Given the description of an element on the screen output the (x, y) to click on. 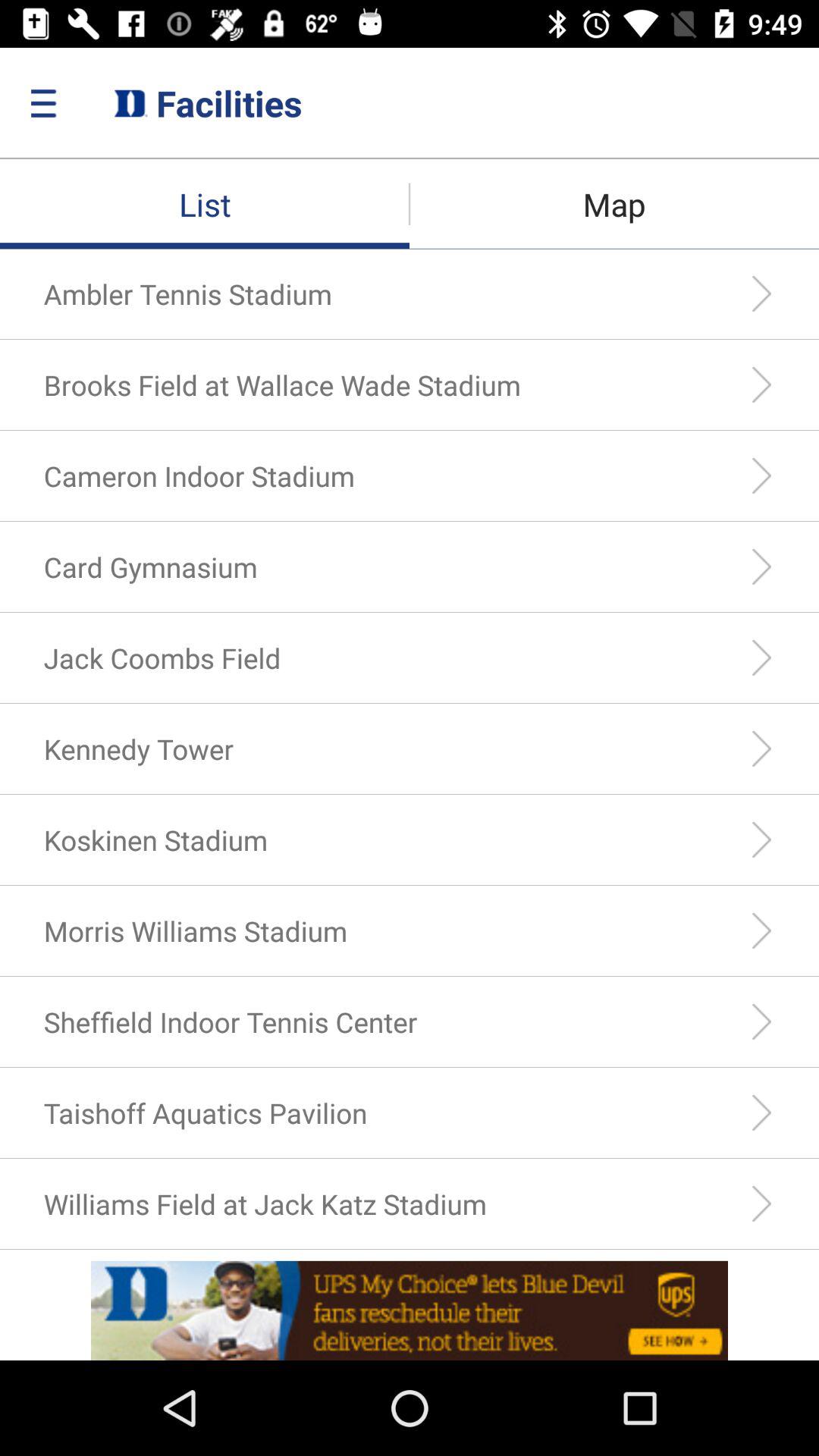
advertisement (409, 1310)
